Given the description of an element on the screen output the (x, y) to click on. 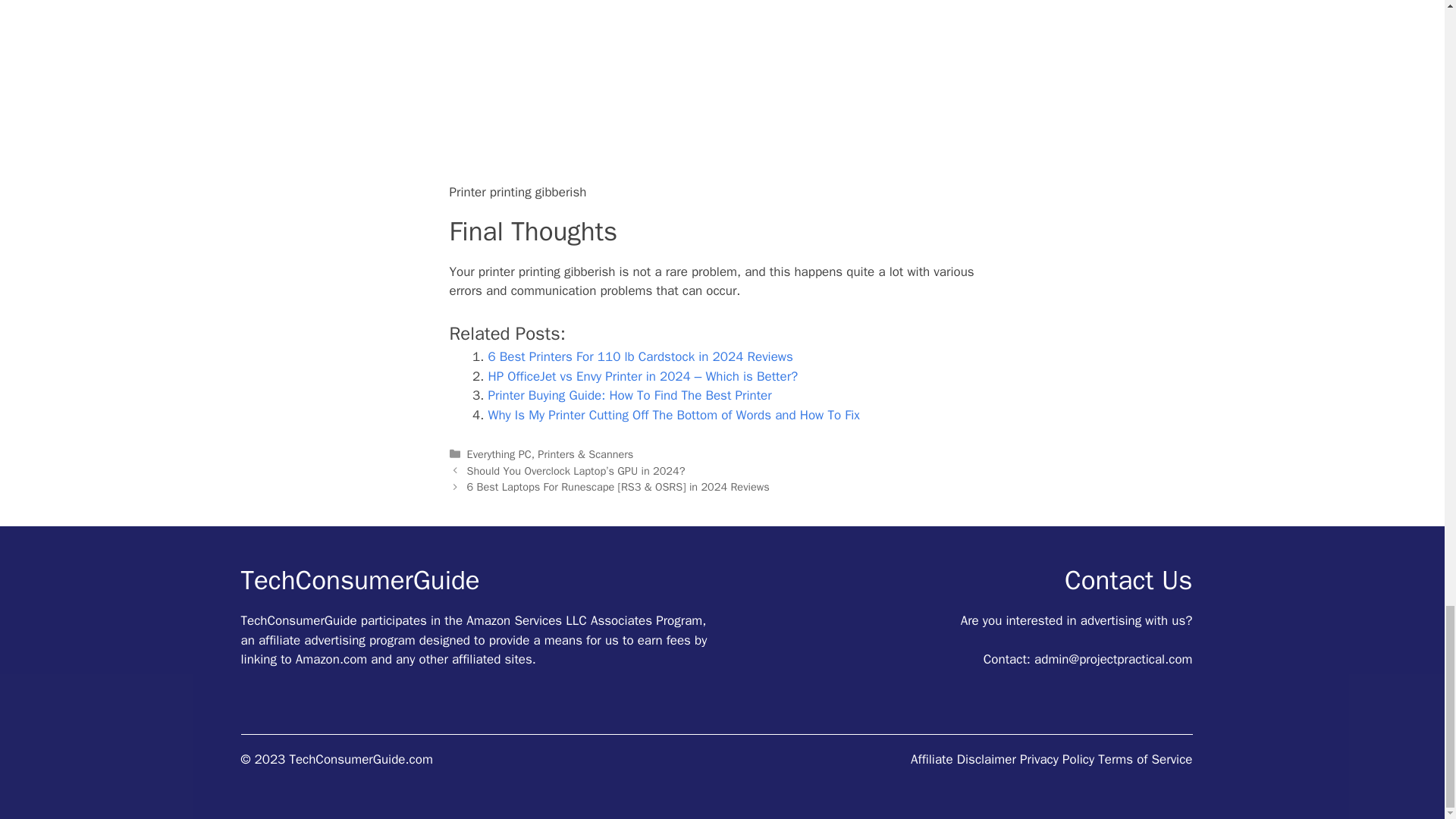
6 Best Printers For 110 lb Cardstock in 2024 Reviews (640, 356)
Printer Buying Guide: How To Find The Best Printer (629, 395)
